Given the description of an element on the screen output the (x, y) to click on. 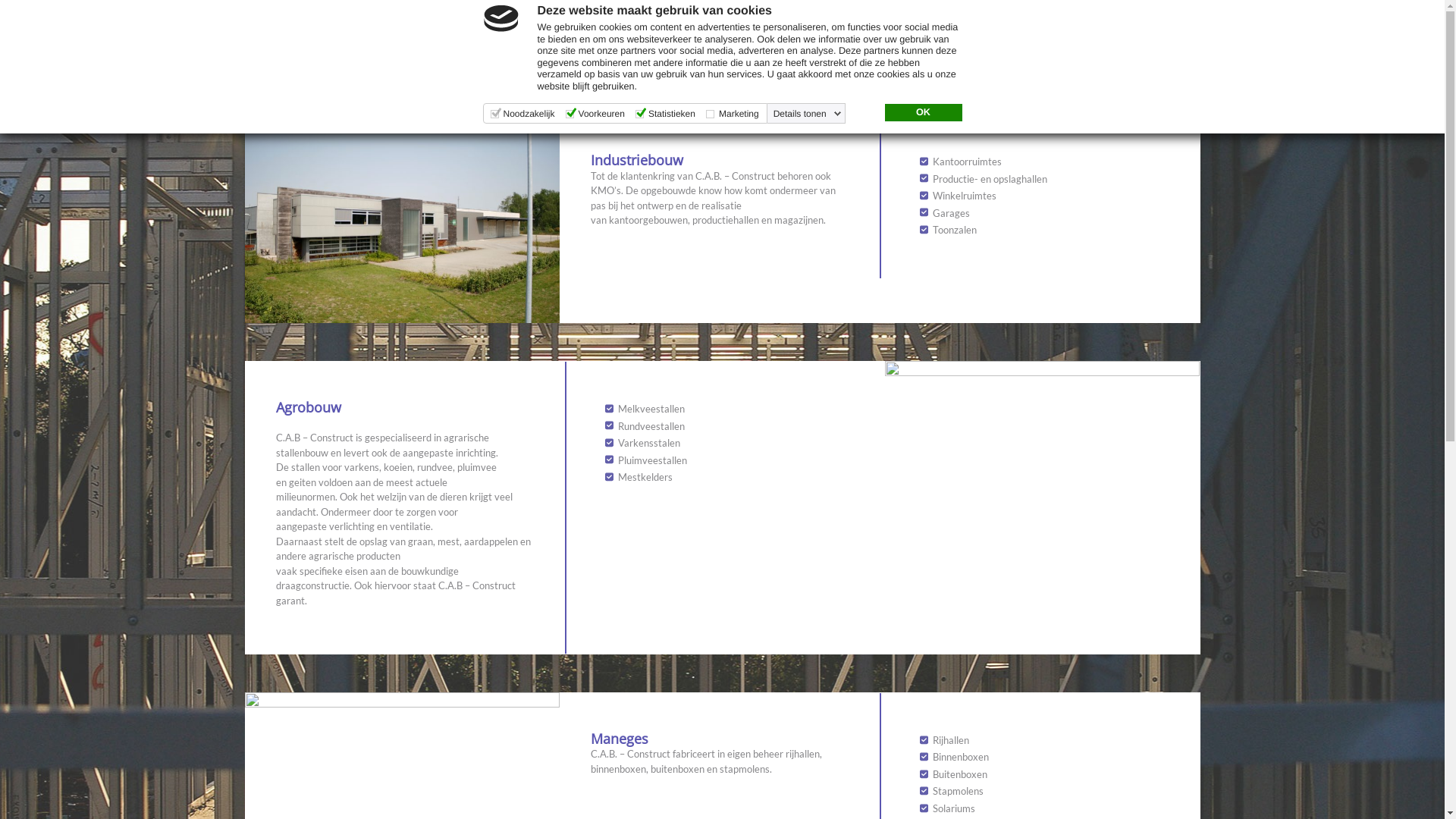
Details tonen Element type: text (807, 113)
Realisaties Element type: text (1091, 50)
Contact Element type: text (1171, 50)
Home Element type: text (938, 50)
Diensten Element type: text (1008, 50)
OK Element type: text (922, 112)
